Given the description of an element on the screen output the (x, y) to click on. 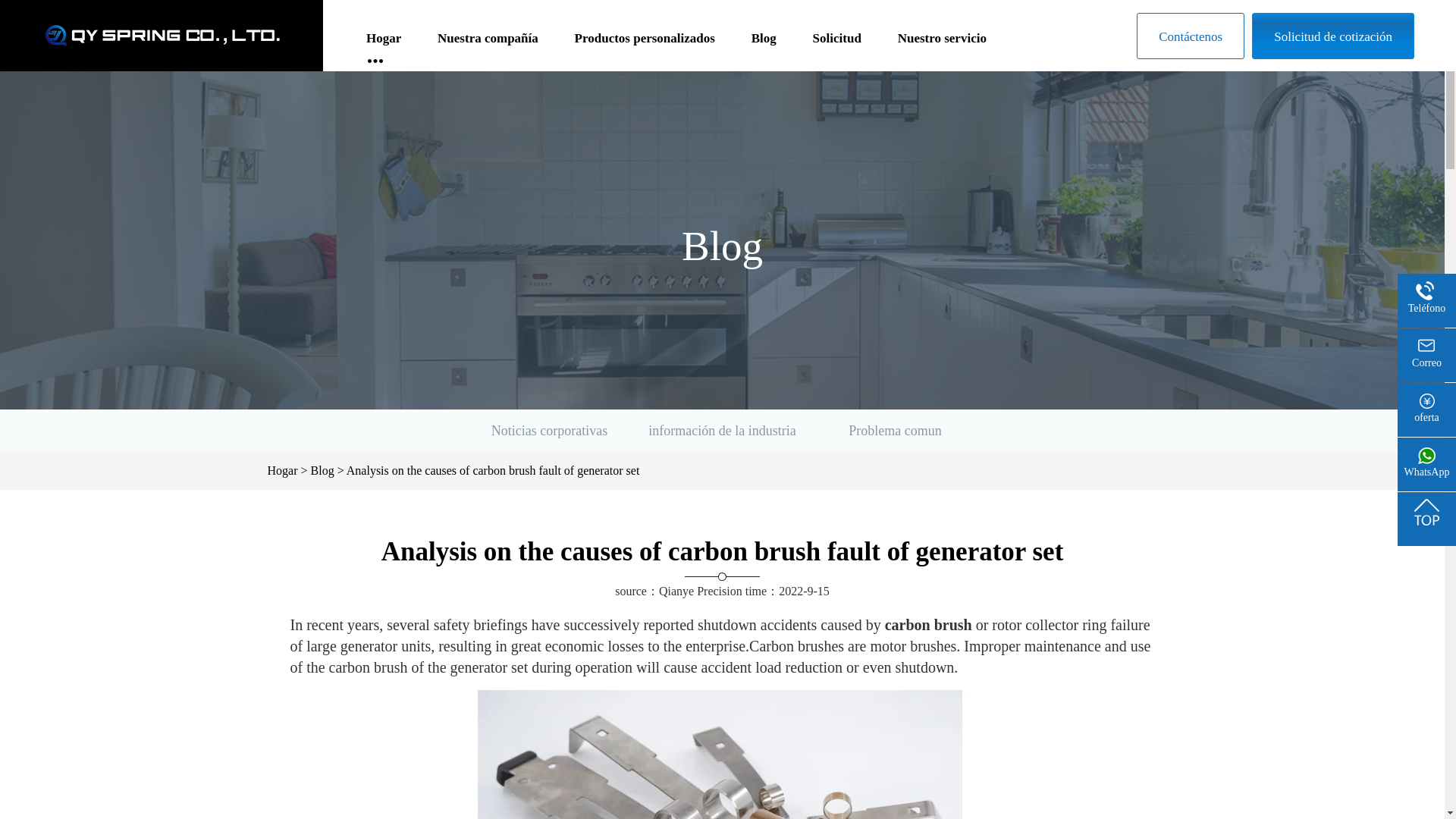
Nuestro servicio (942, 45)
Productos personalizados (644, 45)
Solicitud (836, 45)
